Given the description of an element on the screen output the (x, y) to click on. 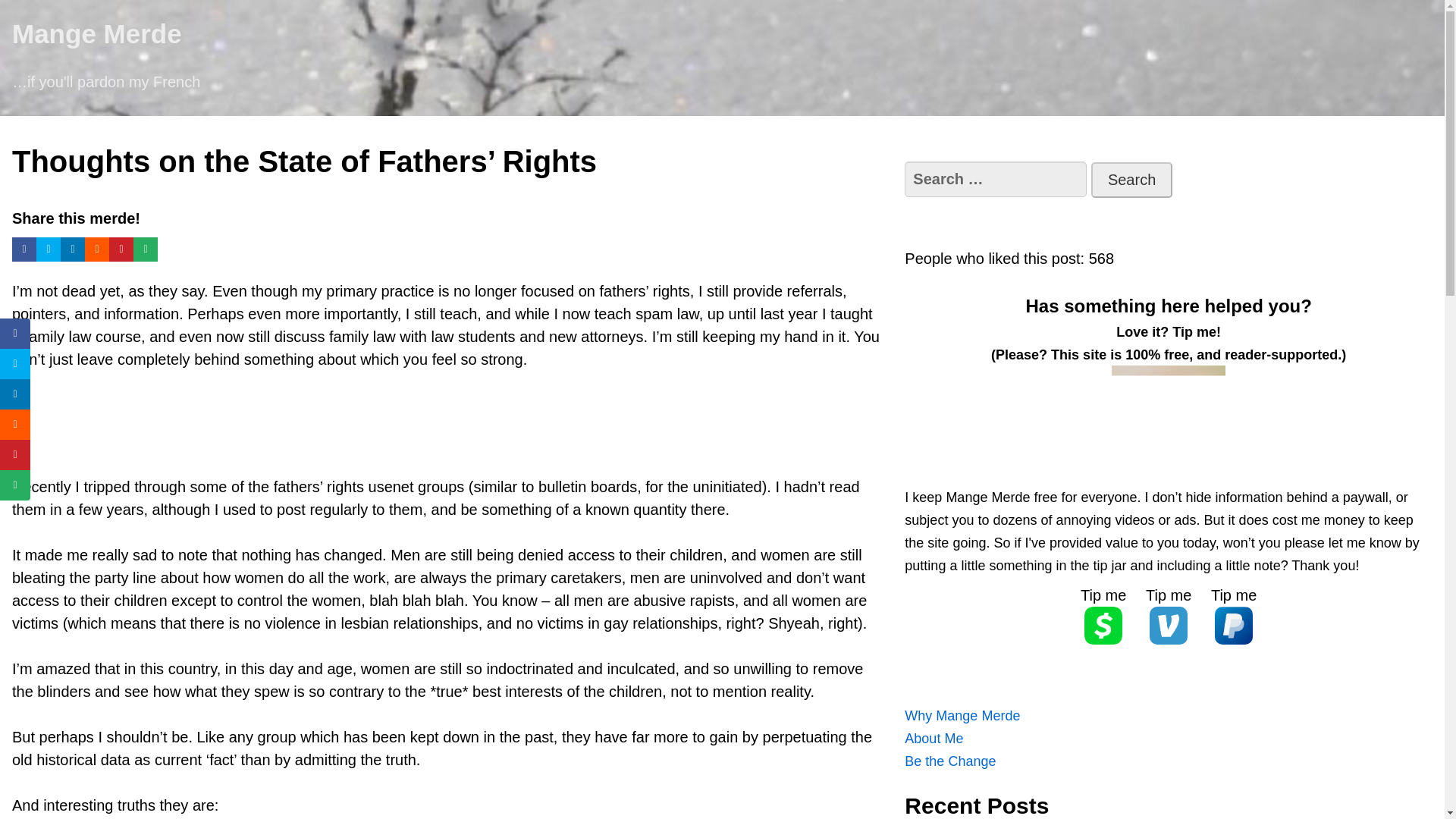
Why Mange Merde (962, 715)
Be the Change (949, 761)
Search (1131, 180)
Mange Merde (96, 33)
Search (1131, 180)
About Me (933, 738)
Advertisement (446, 427)
Search (1131, 180)
